Given the description of an element on the screen output the (x, y) to click on. 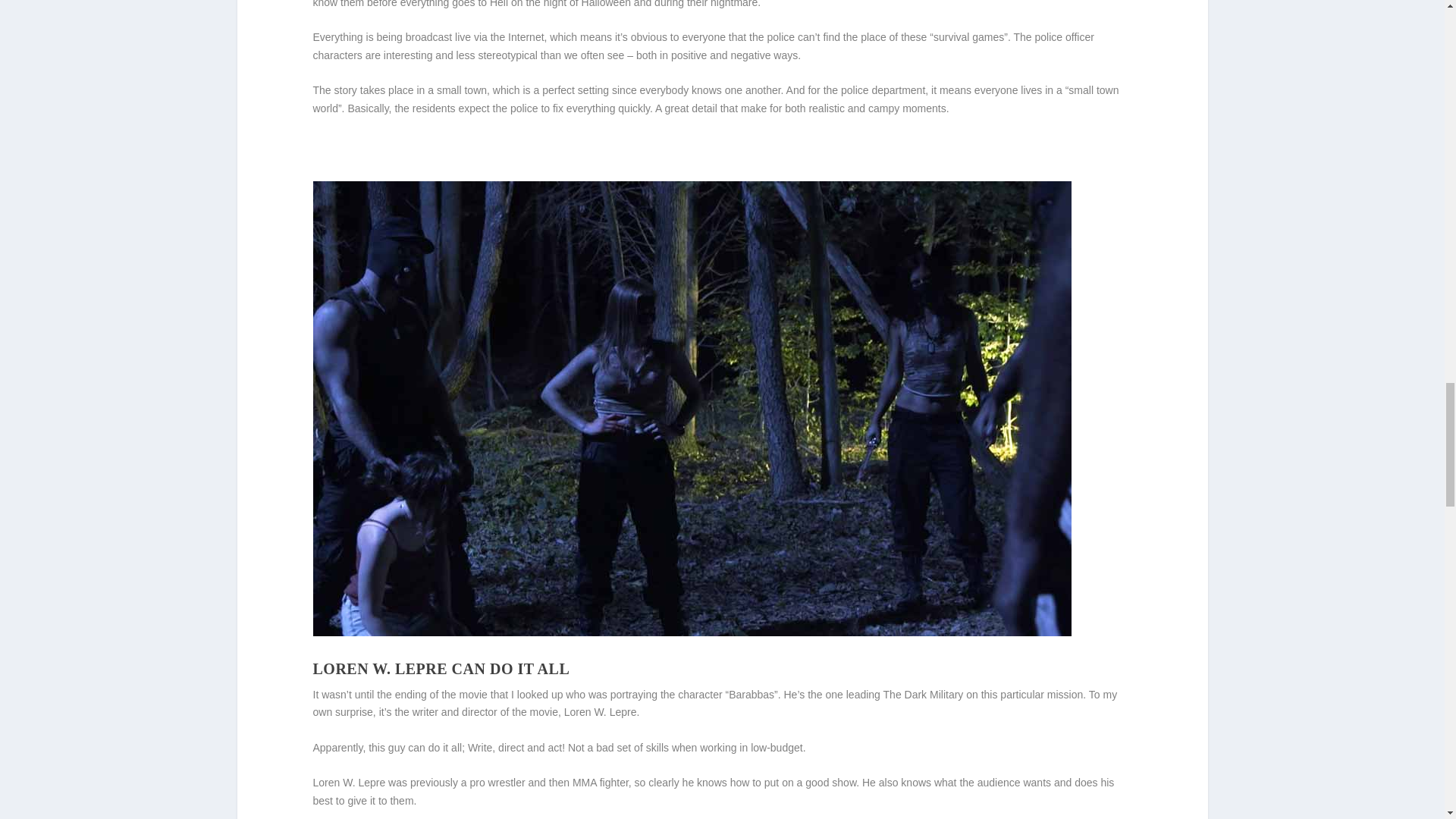
The Dark Military review (691, 632)
